Given the description of an element on the screen output the (x, y) to click on. 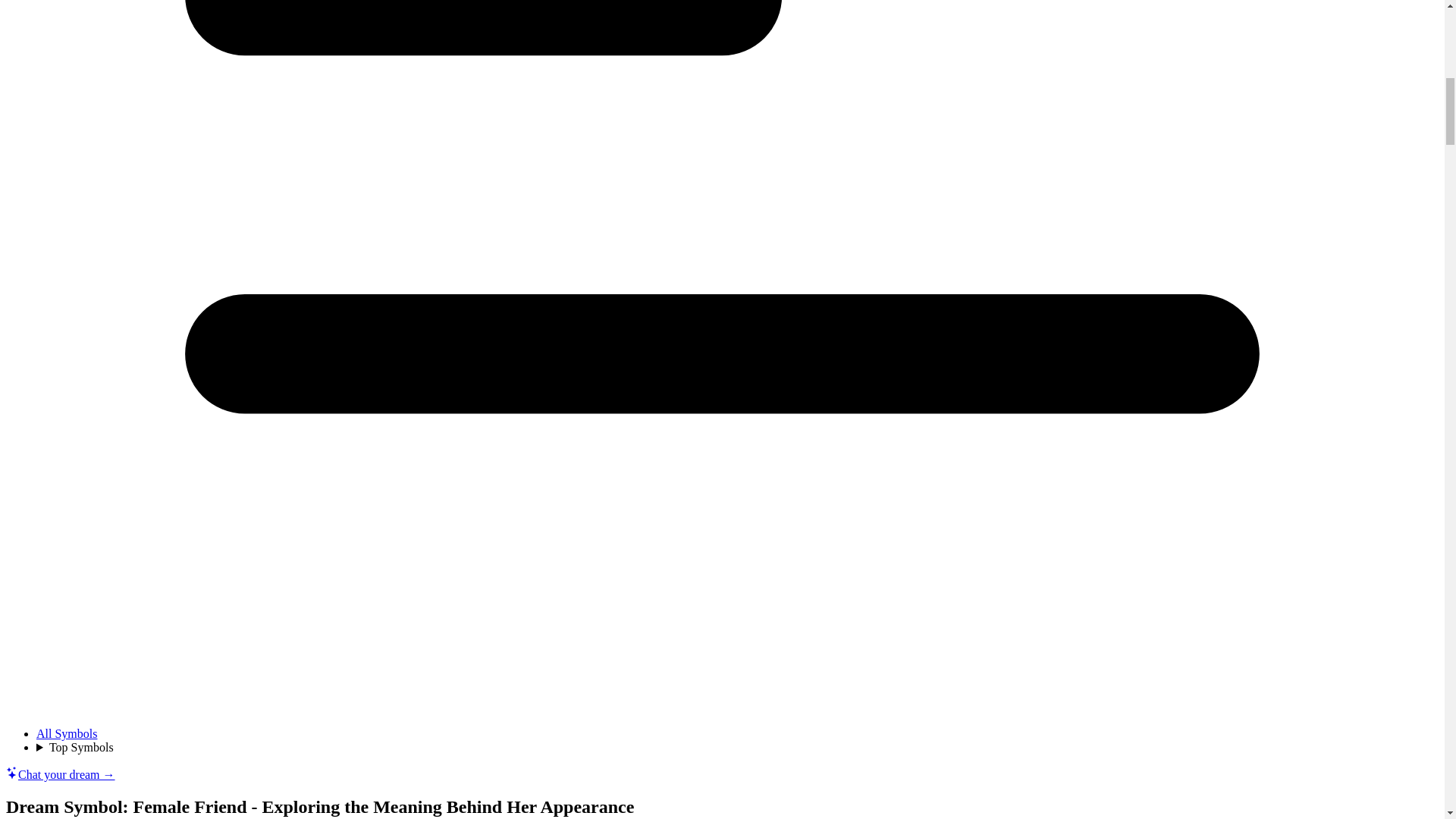
All Symbols (66, 733)
